Given the description of an element on the screen output the (x, y) to click on. 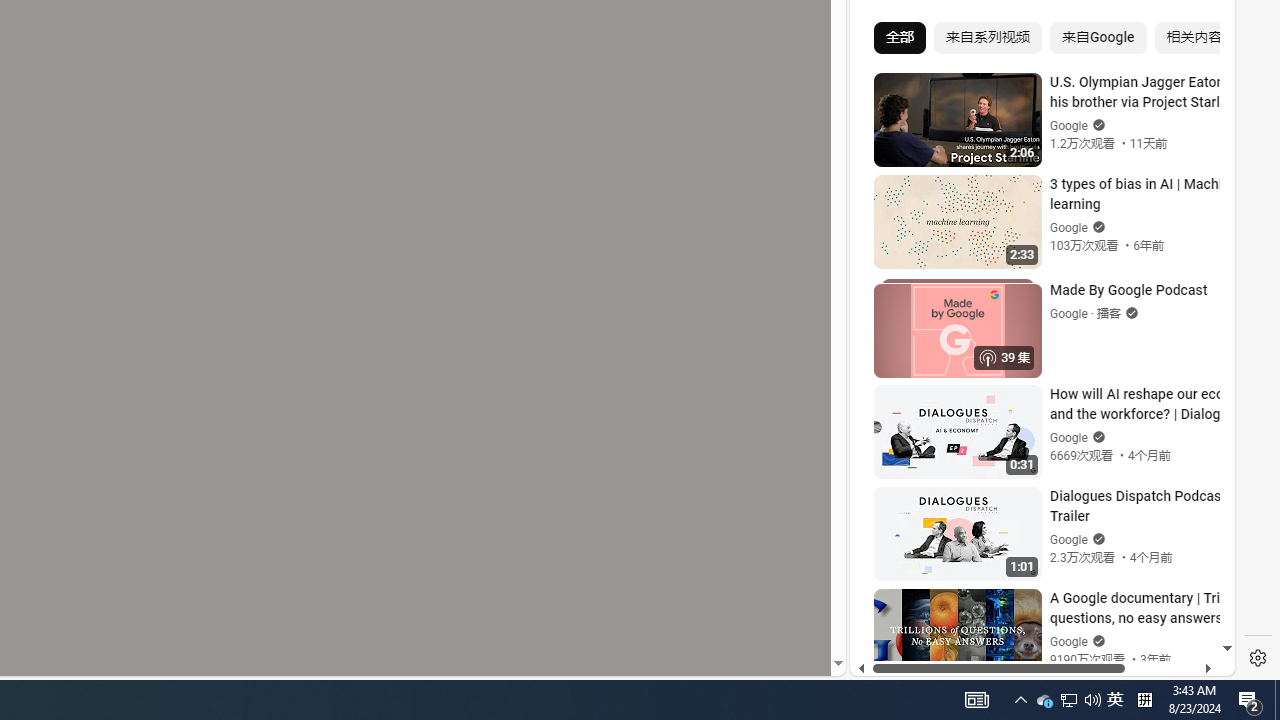
Class: dict_pnIcon rms_img (1028, 660)
US[ju] (917, 660)
you (1034, 609)
